Given the description of an element on the screen output the (x, y) to click on. 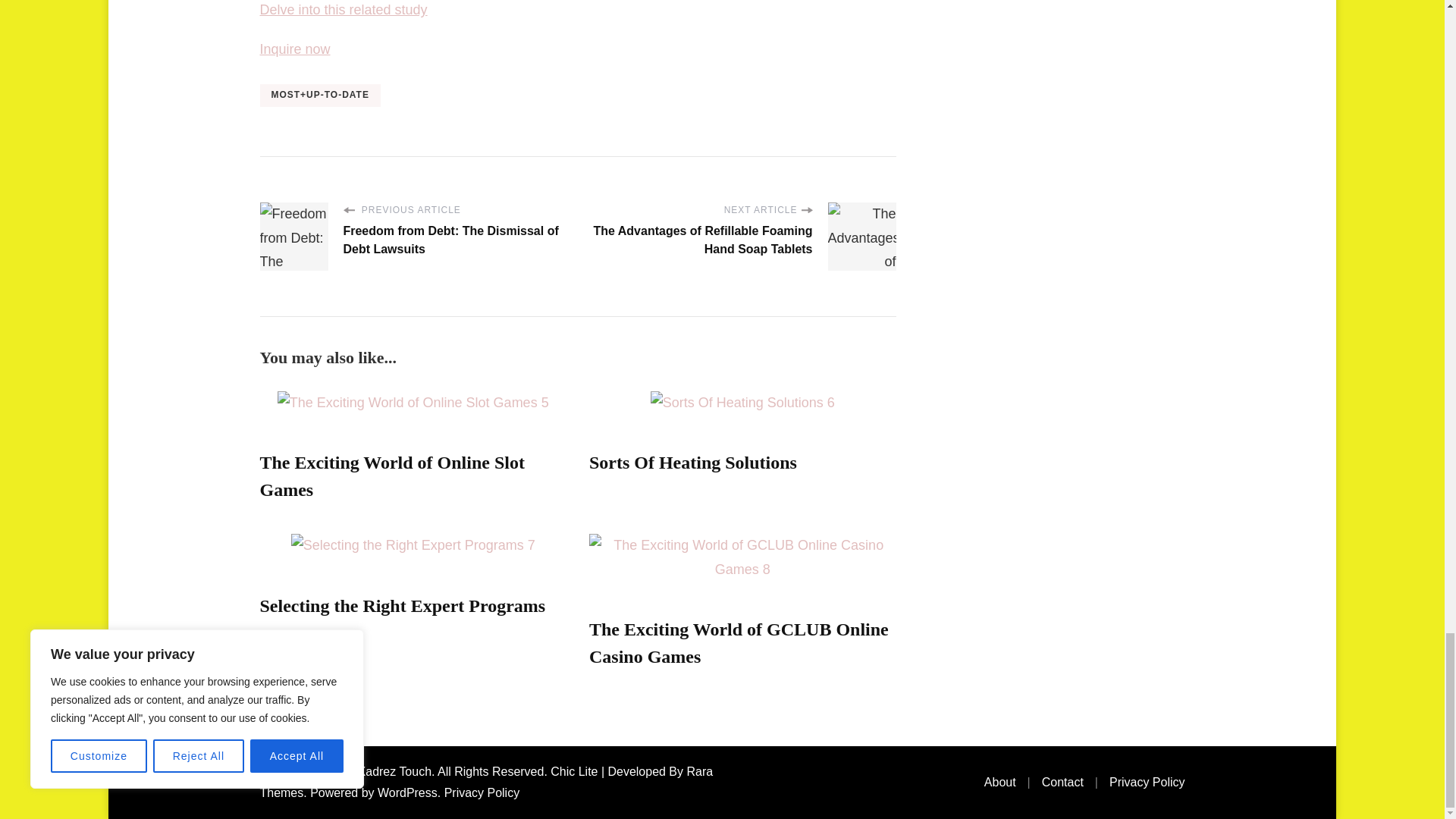
Delve into this related study (342, 9)
Inquire now (294, 48)
The Exciting World of Online Slot Games (391, 475)
